Given the description of an element on the screen output the (x, y) to click on. 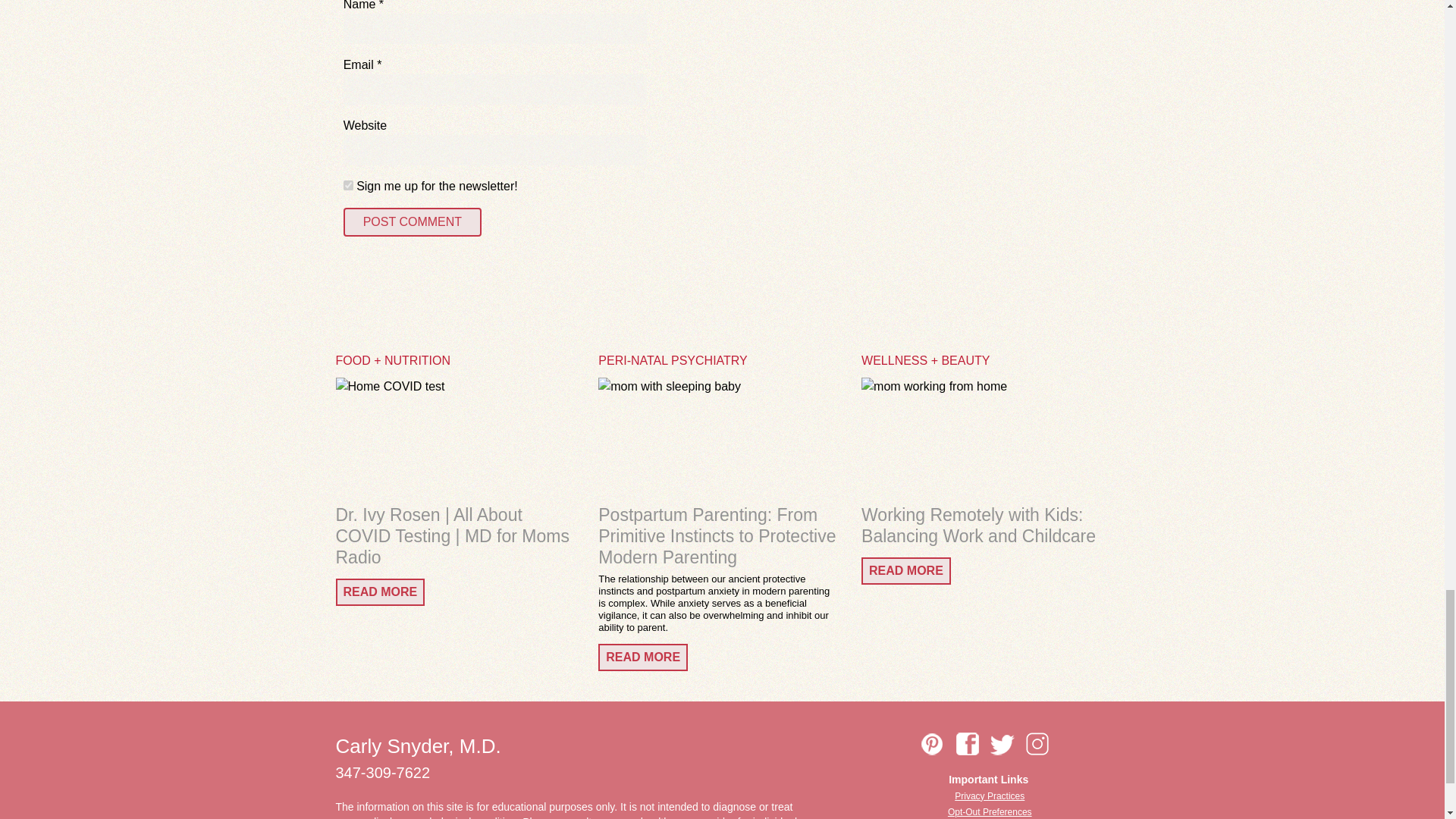
Post Comment (412, 222)
Post Comment (412, 222)
1 (348, 185)
